Given the description of an element on the screen output the (x, y) to click on. 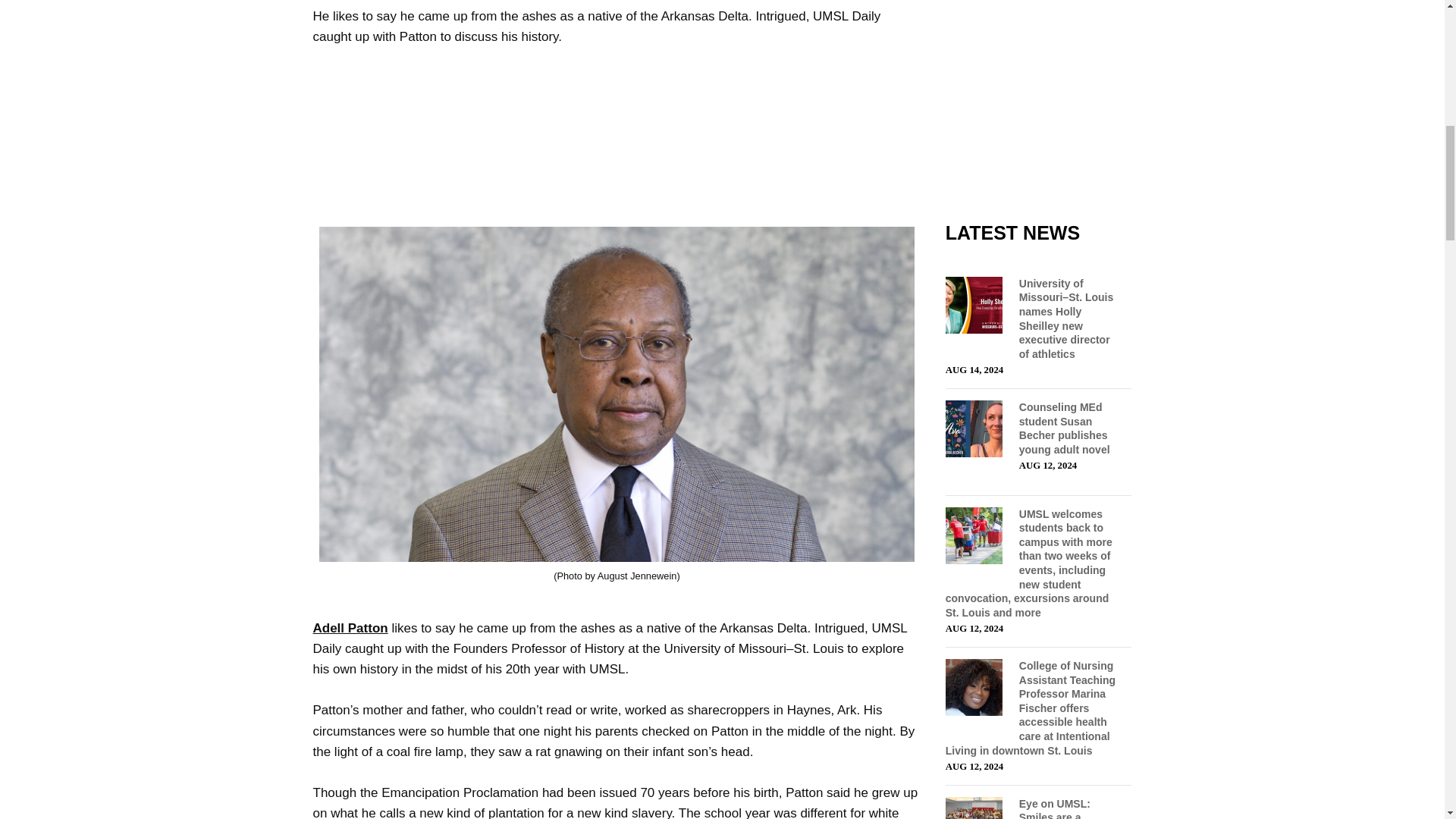
Eye on UMSL: Smiles are a universal language (1067, 808)
Adell Patton, Founders Professor of History at UMSL (350, 627)
Adell Patton (350, 627)
